Given the description of an element on the screen output the (x, y) to click on. 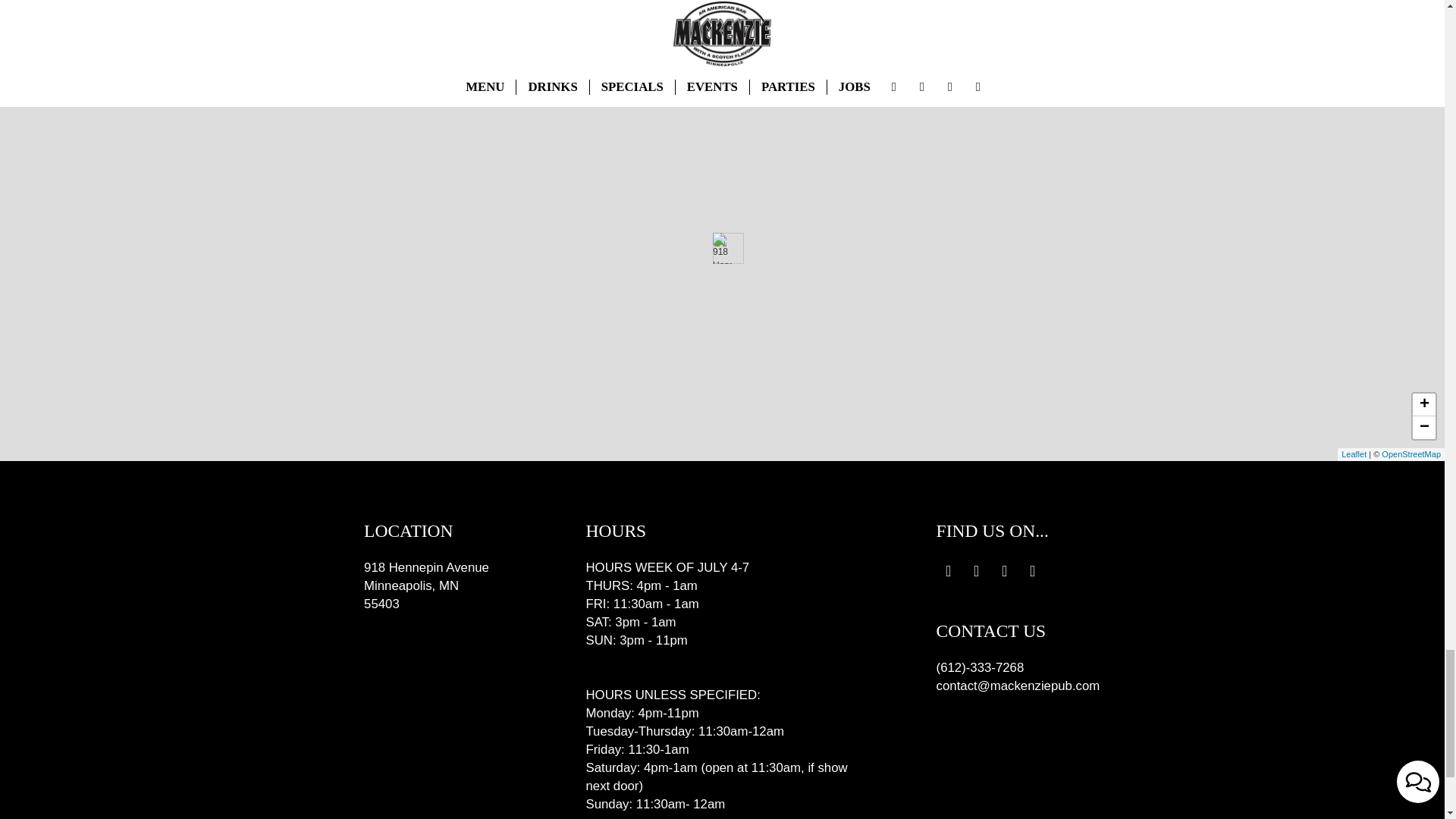
Zoom in (1423, 404)
Zoom out (1423, 427)
A JS library for interactive maps (1353, 453)
